Given the description of an element on the screen output the (x, y) to click on. 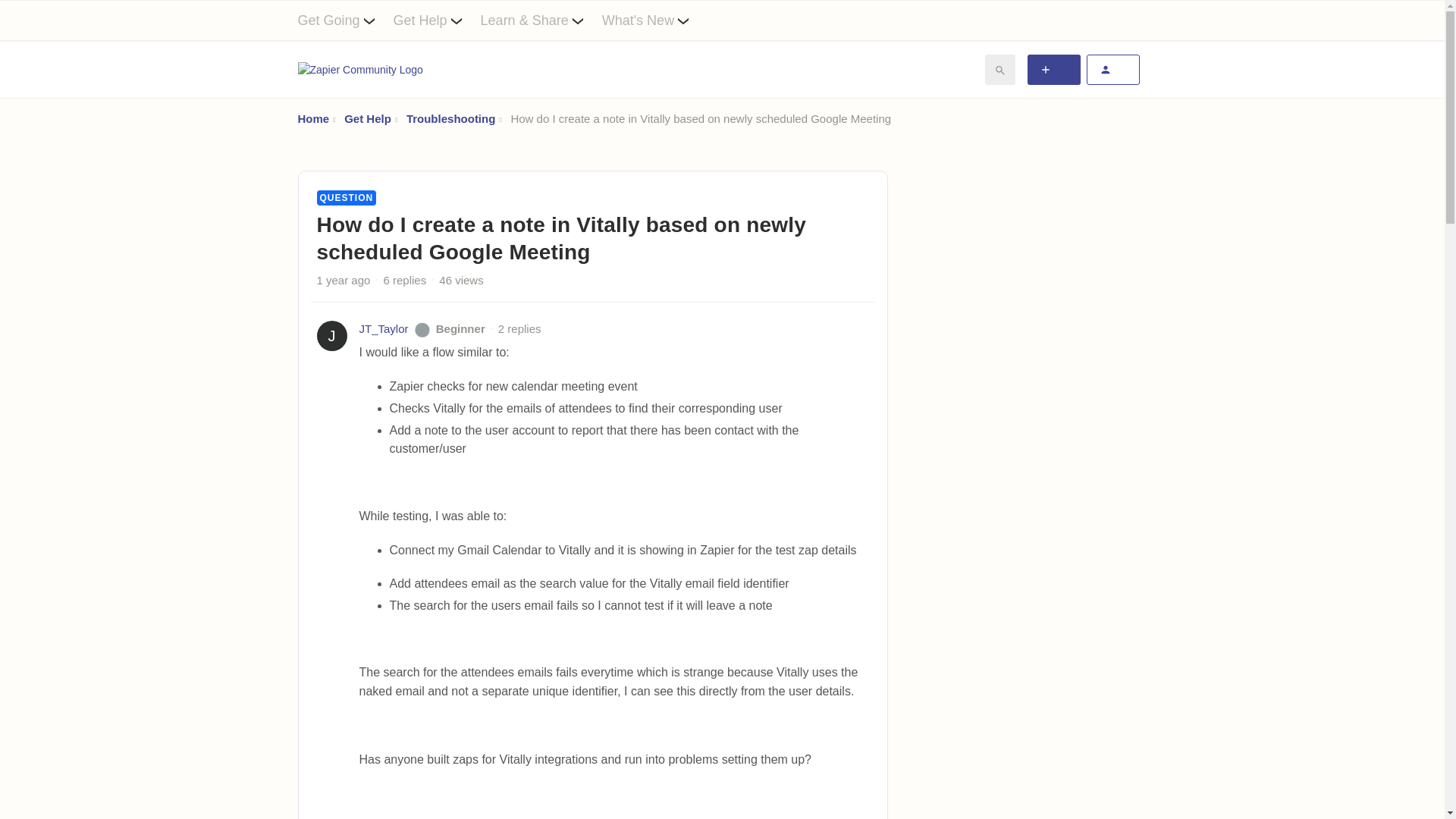
What's New (654, 20)
Get Help (367, 118)
Home (313, 118)
Get Help (436, 20)
Get Going (345, 20)
